Given the description of an element on the screen output the (x, y) to click on. 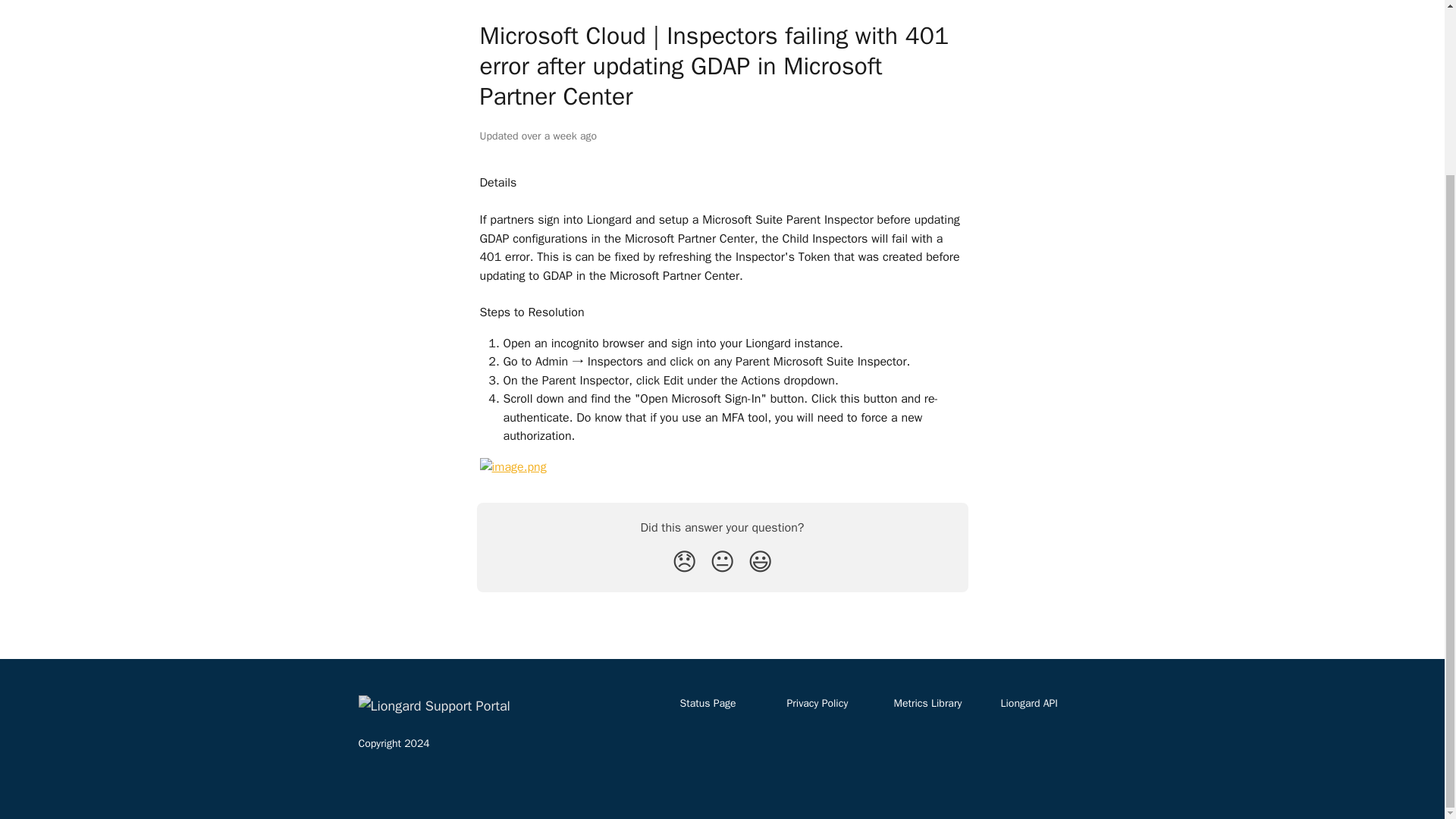
Disappointed (684, 562)
Status Page (707, 703)
Neutral (722, 562)
Liongard API (1029, 703)
Smiley (760, 562)
Privacy Policy (817, 703)
Metrics Library (926, 703)
